Given the description of an element on the screen output the (x, y) to click on. 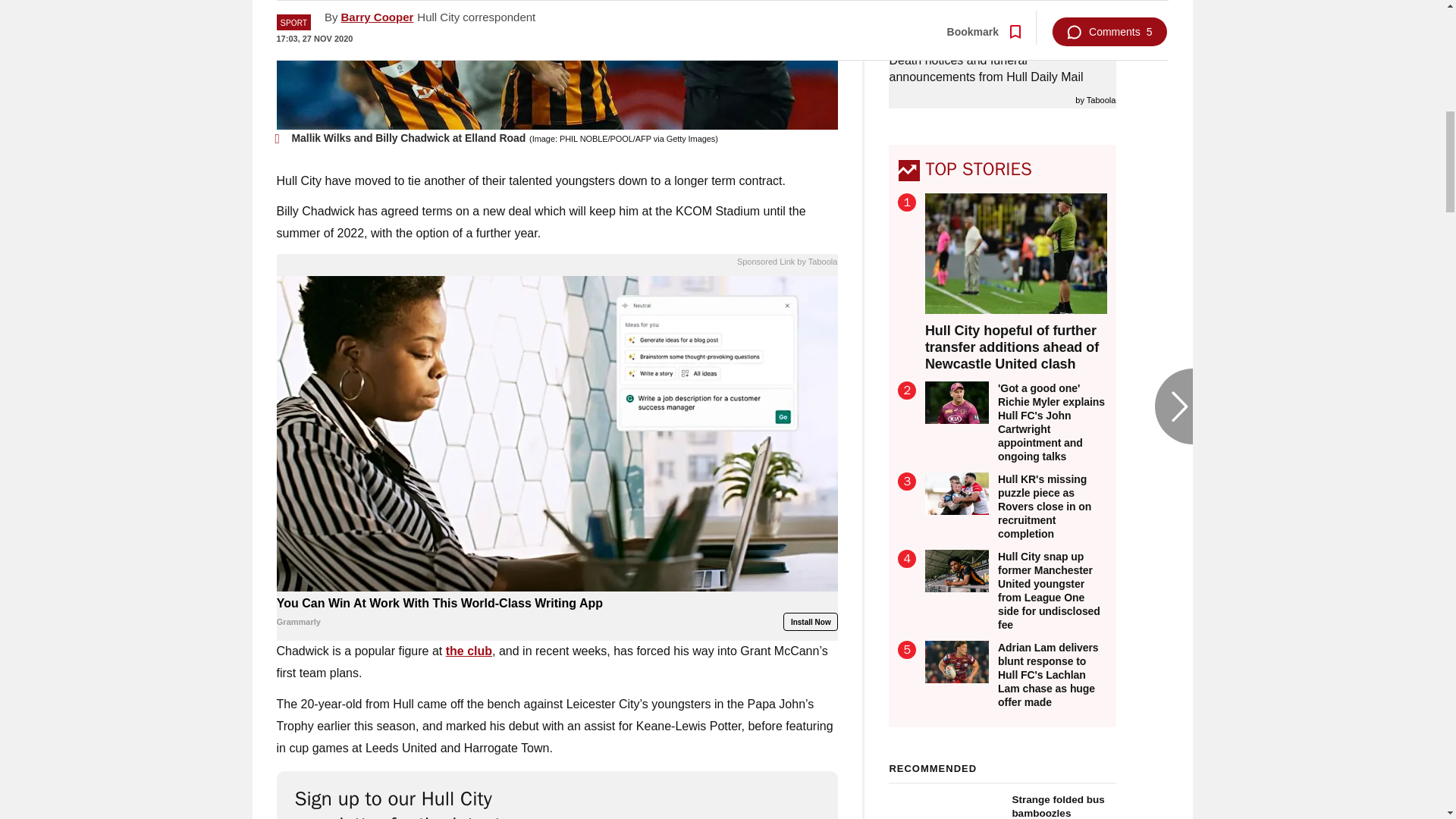
You Can Win At Work With This World-Class Writing App (557, 612)
